Given the description of an element on the screen output the (x, y) to click on. 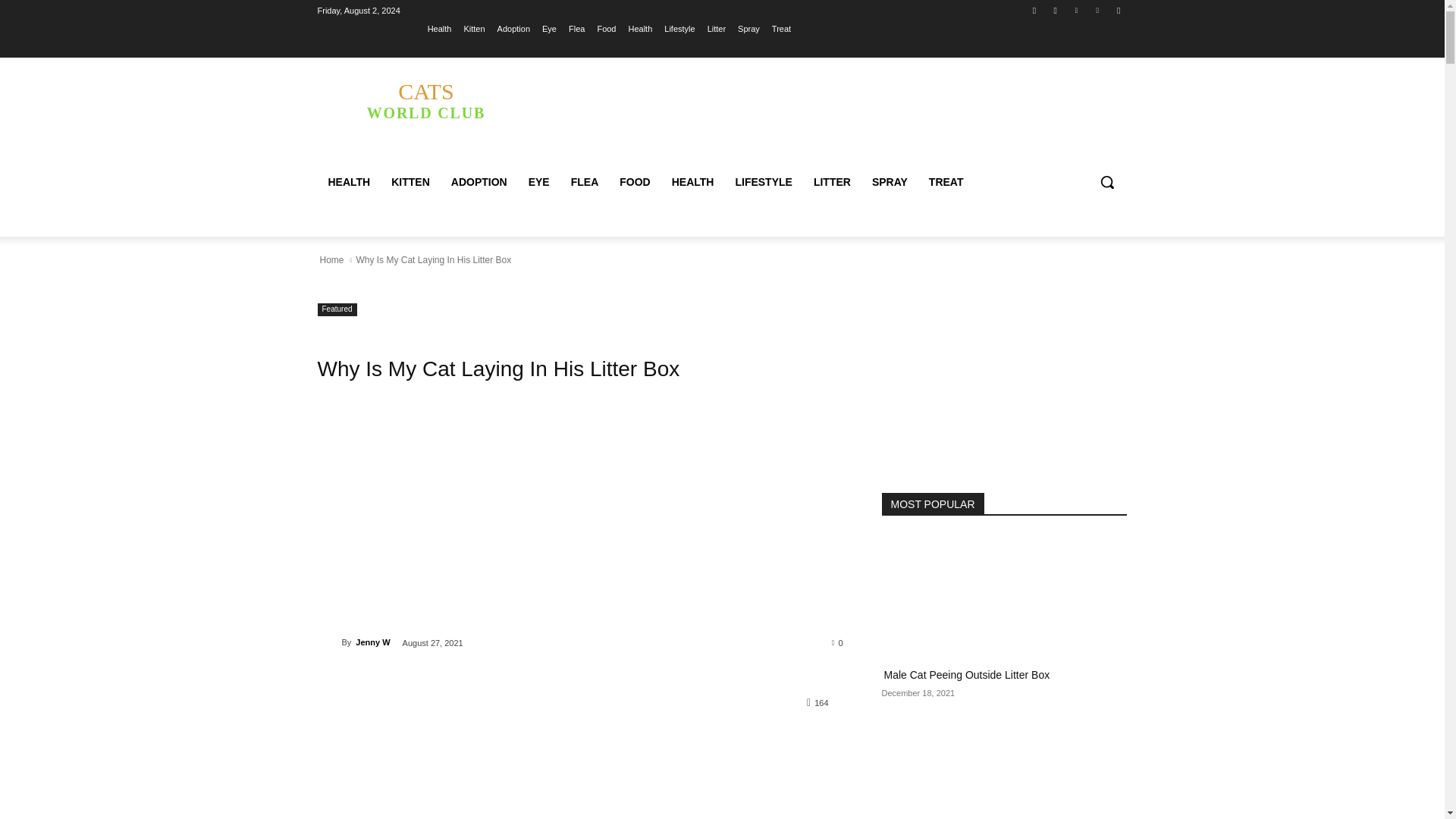
Adoption (513, 28)
Treat (780, 28)
Food (605, 28)
Twitter (1075, 9)
HEALTH (348, 181)
Lifestyle (678, 28)
Health (425, 99)
Advertisement (639, 28)
Youtube (580, 524)
Health (1117, 9)
KITTEN (439, 28)
Facebook (410, 181)
Spray (1034, 9)
Jenny W (749, 28)
